Given the description of an element on the screen output the (x, y) to click on. 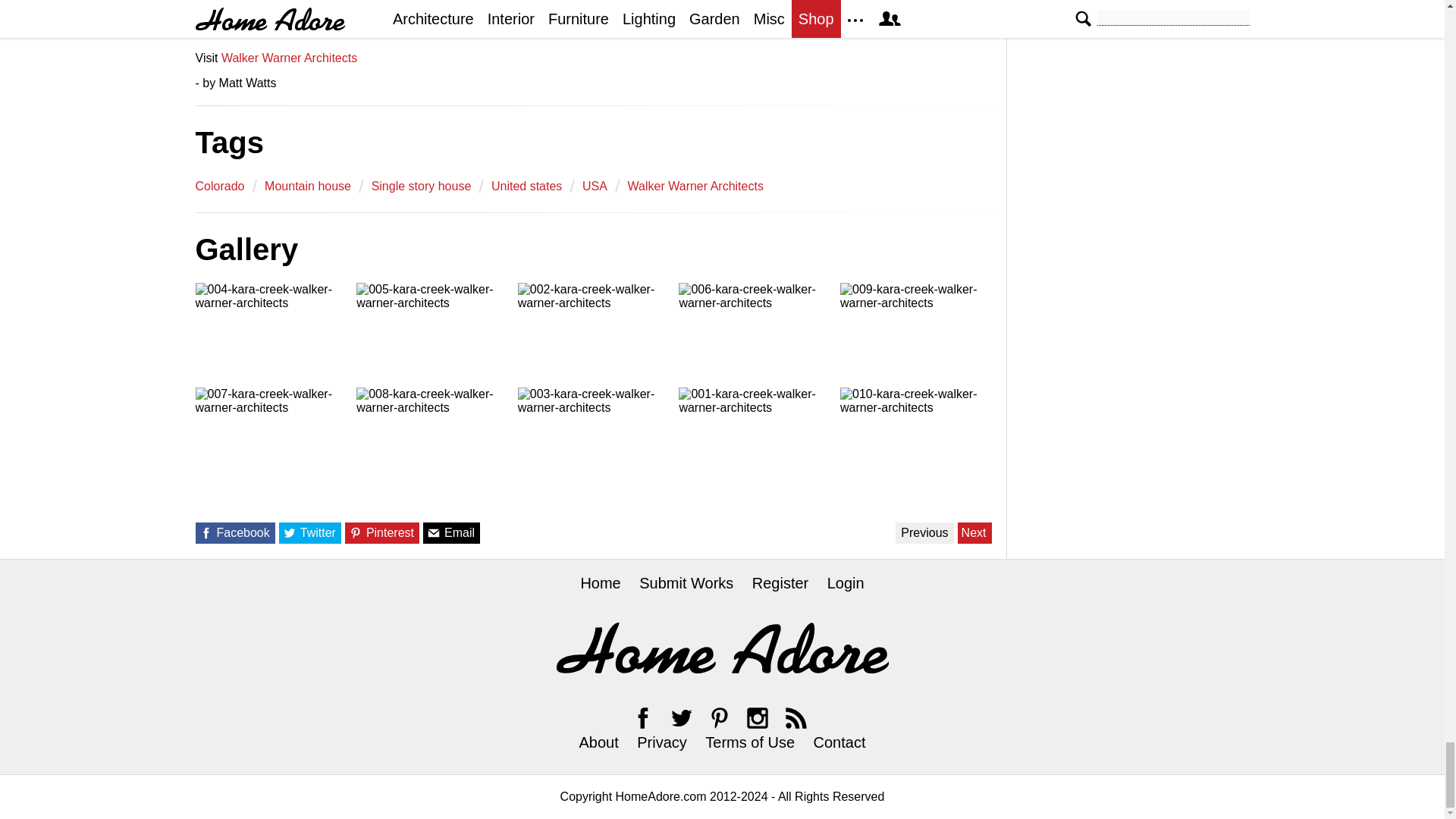
USA (594, 186)
mountain house (307, 186)
Share on Facebook (205, 532)
HomeAdore (722, 648)
Share with a Friend (433, 532)
united states (527, 186)
Facebook (643, 718)
Walker Warner Architects (694, 186)
single story house (421, 186)
Twitter (681, 718)
